Given the description of an element on the screen output the (x, y) to click on. 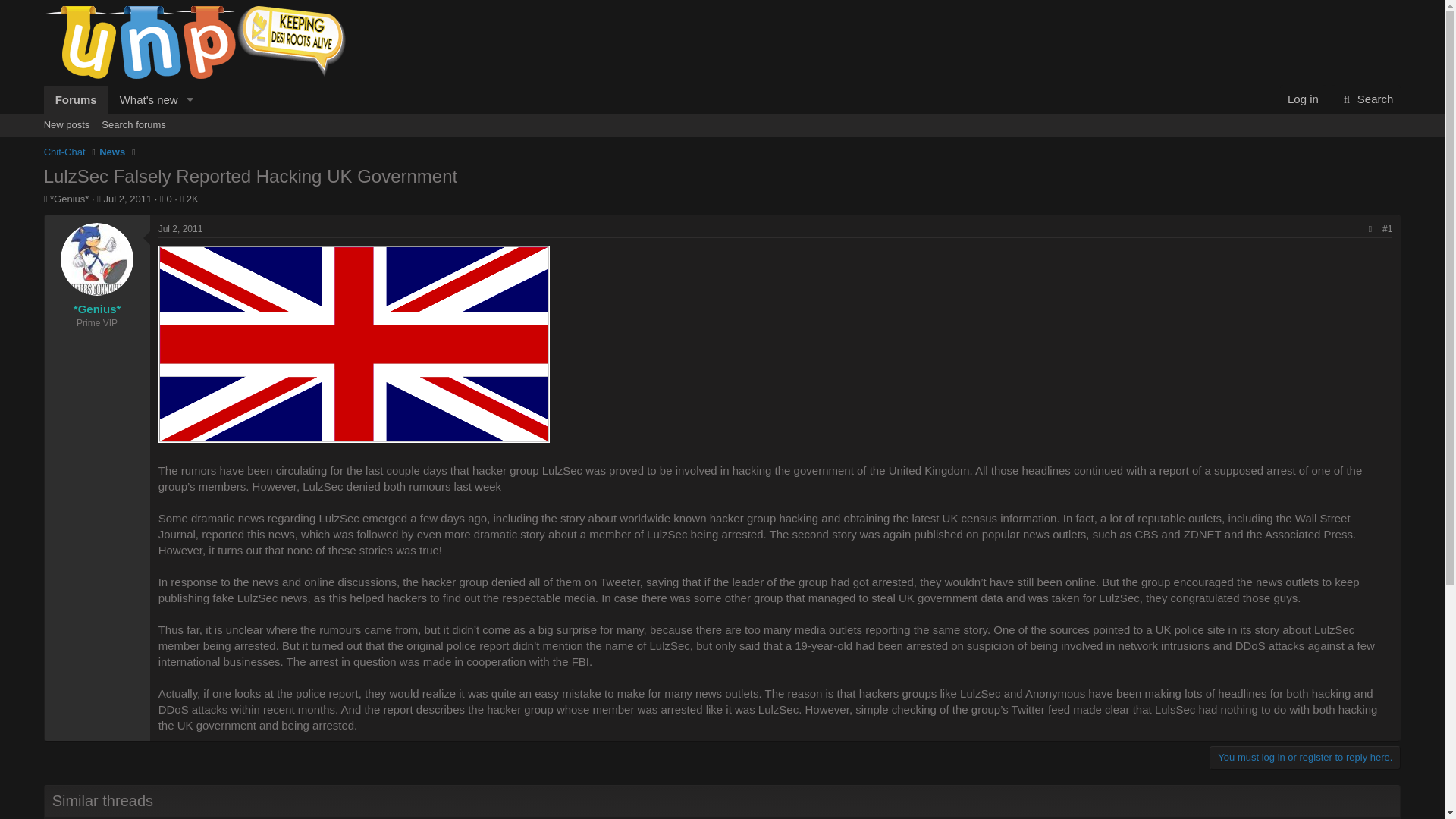
Replies (164, 198)
UNKG0001GIF-1.gif (354, 345)
Search (1366, 99)
Jul 2, 2011 (180, 228)
New posts (66, 124)
Log in (1302, 99)
You must log in or register to reply here. (1304, 757)
Views (186, 198)
Jul 2, 2011 at 3:07 AM (722, 124)
